Given the description of an element on the screen output the (x, y) to click on. 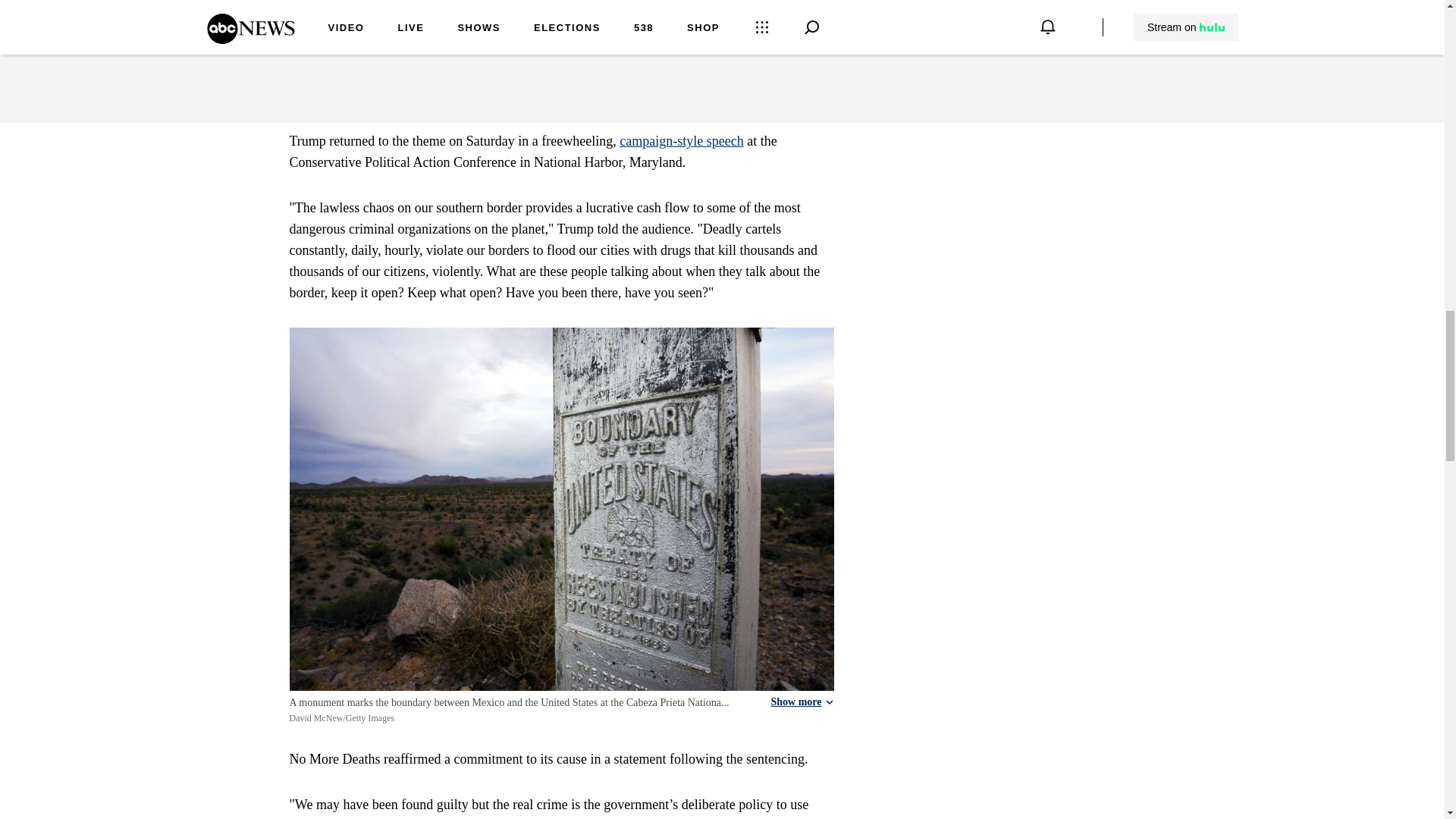
Show more (801, 702)
campaign-style speech (681, 140)
